Given the description of an element on the screen output the (x, y) to click on. 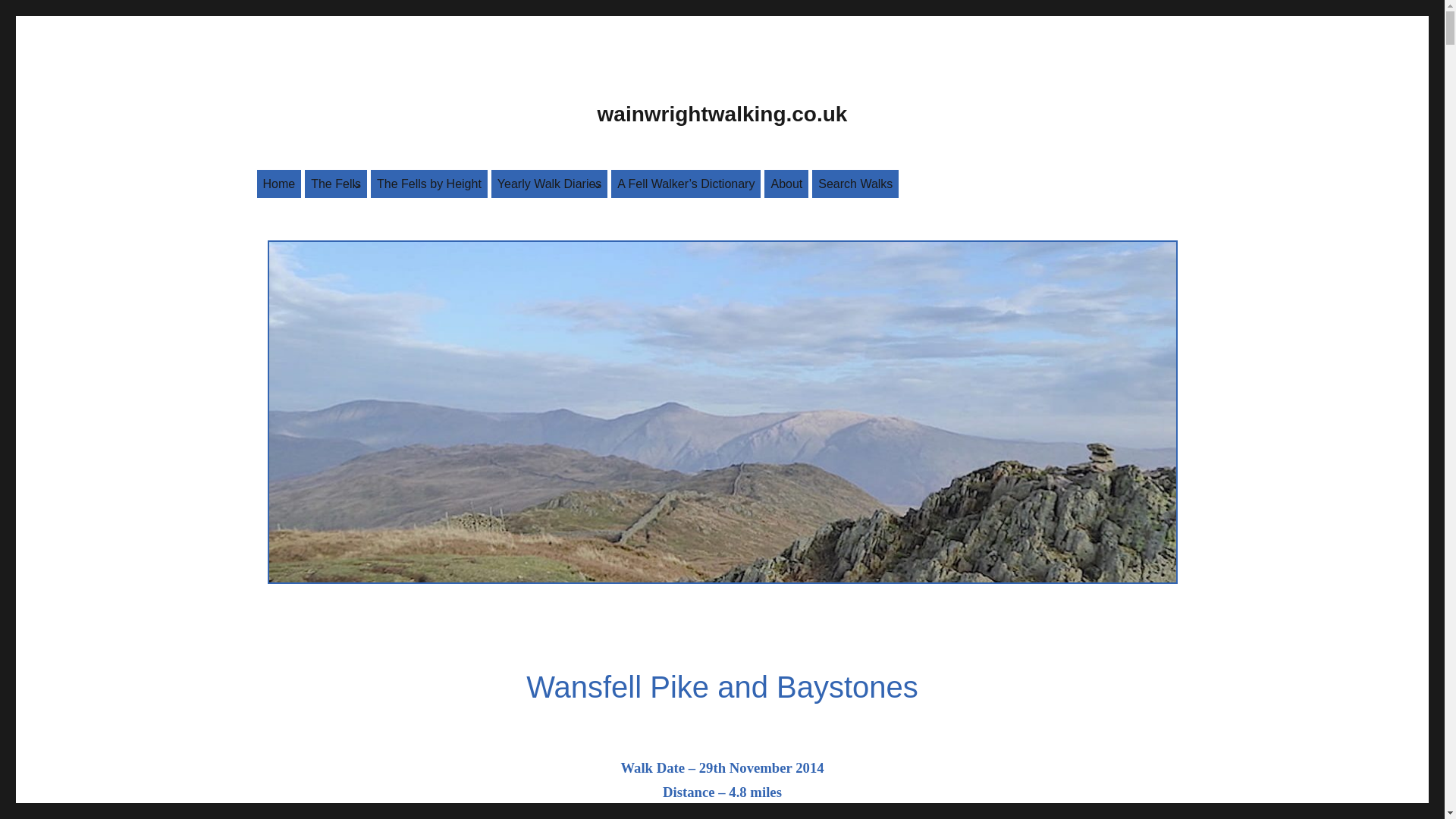
Home (278, 183)
Search Walks (855, 183)
The Fells (335, 183)
About (786, 183)
The Fells by Height (429, 183)
wainwrightwalking.co.uk (721, 114)
Yearly Walk Diaries (550, 183)
